Given the description of an element on the screen output the (x, y) to click on. 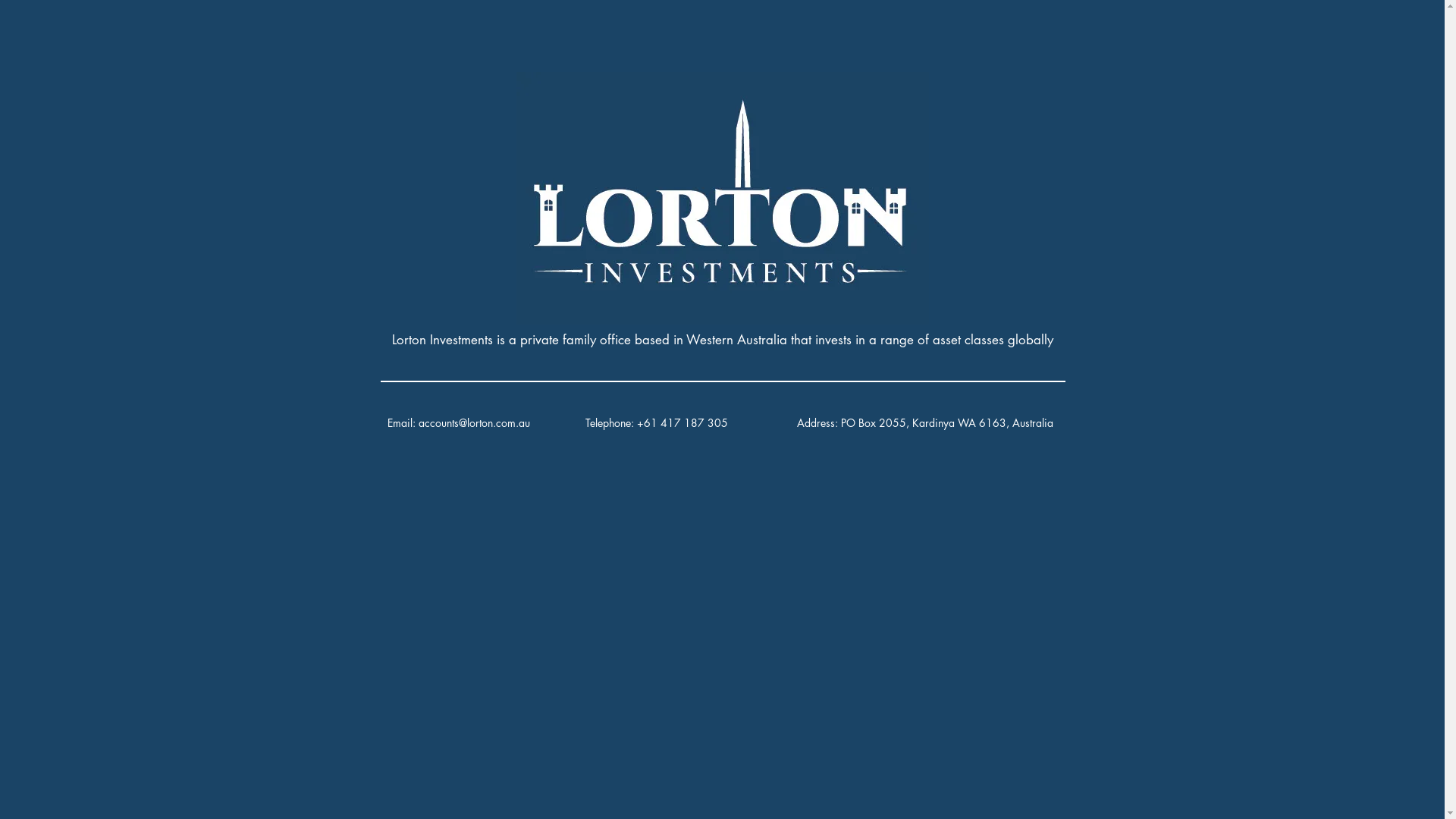
accounts@lorton.com.au Element type: text (474, 422)
